Given the description of an element on the screen output the (x, y) to click on. 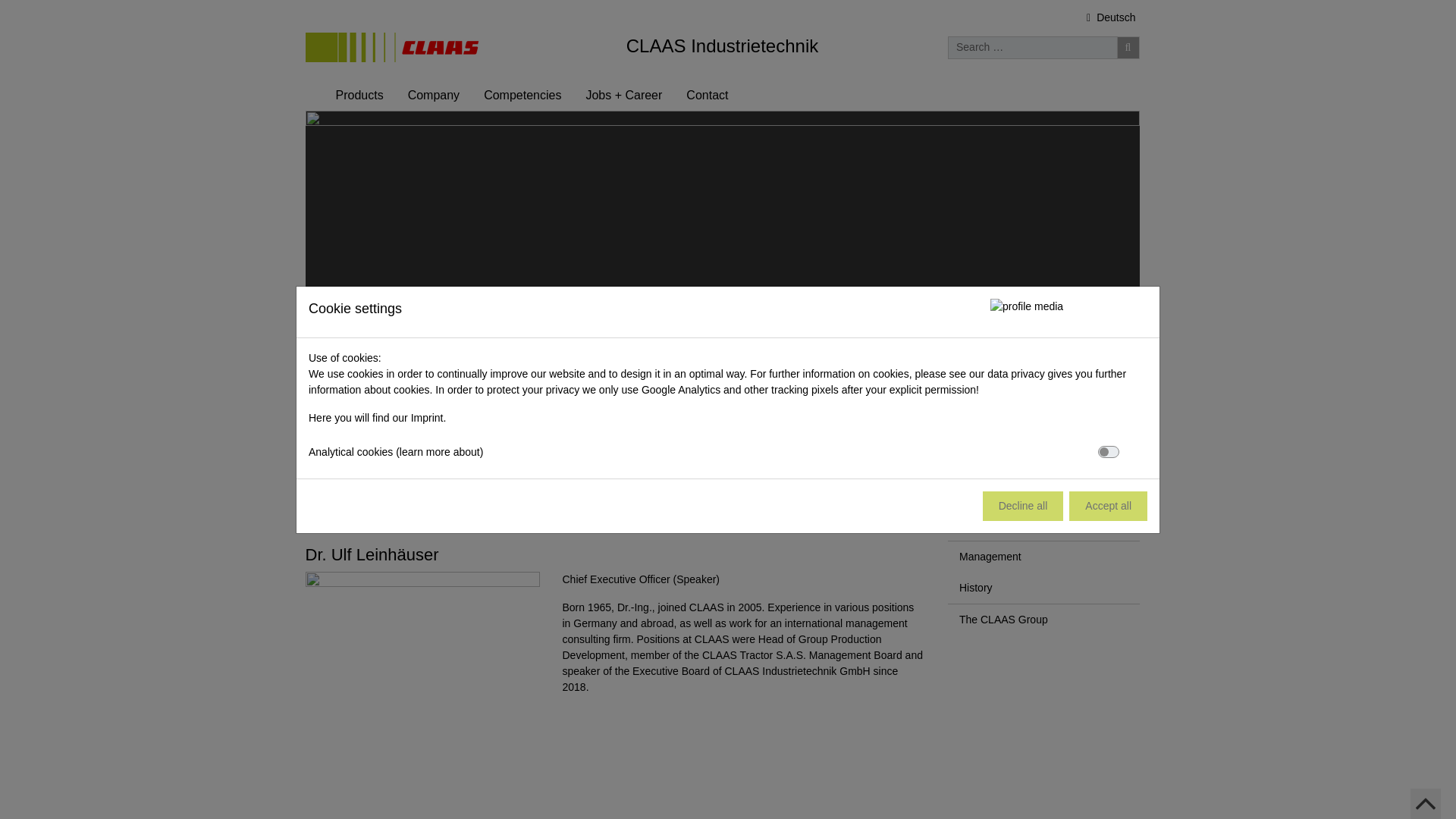
profile media (391, 47)
Products (358, 95)
Search (1127, 47)
Deutsch (1110, 17)
Deutsch (1110, 17)
